Given the description of an element on the screen output the (x, y) to click on. 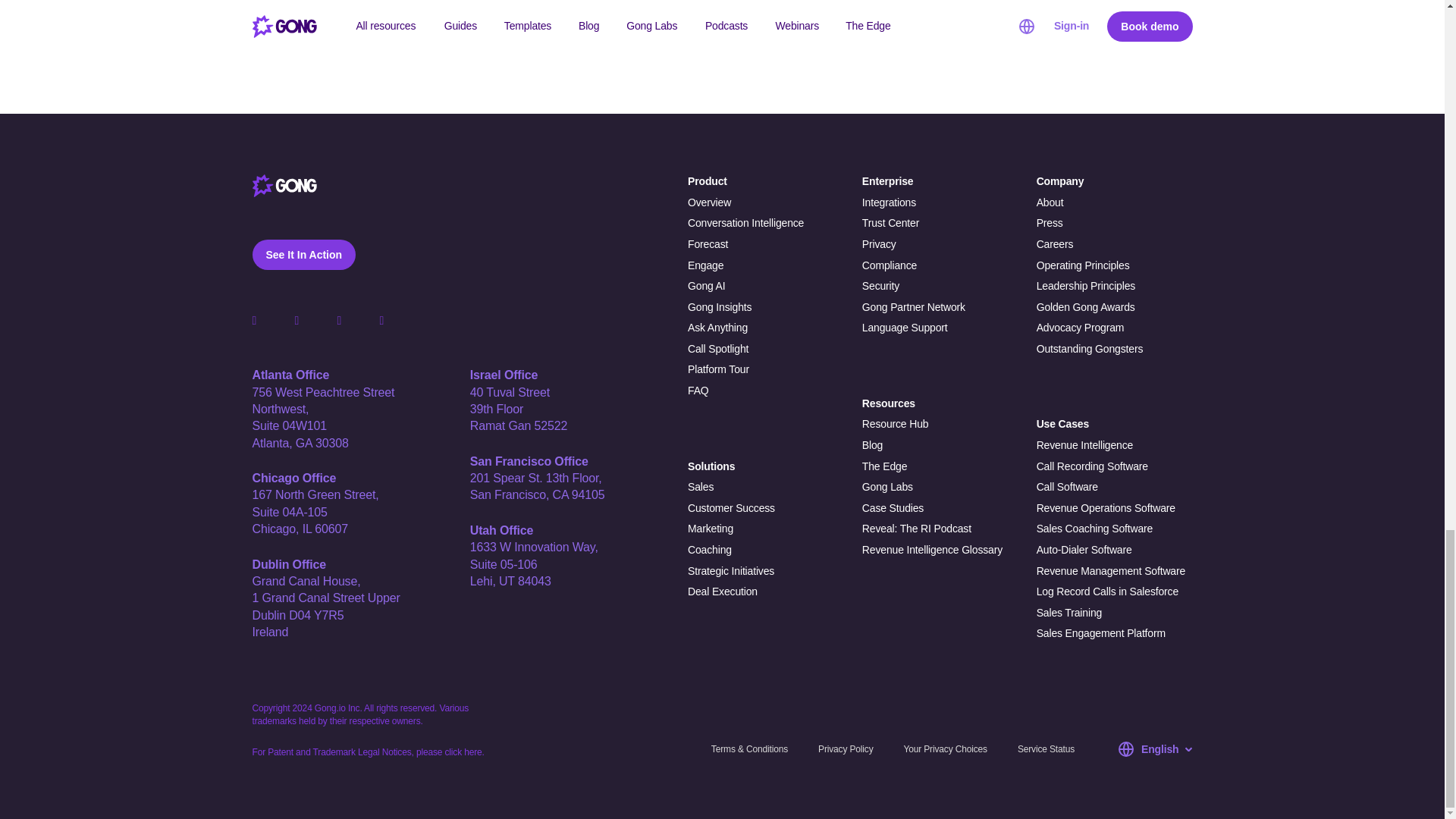
Forecast (765, 244)
Conversation Intelligence (765, 223)
See It In Action (303, 254)
Overview (765, 202)
Product (765, 181)
Home (283, 185)
